Given the description of an element on the screen output the (x, y) to click on. 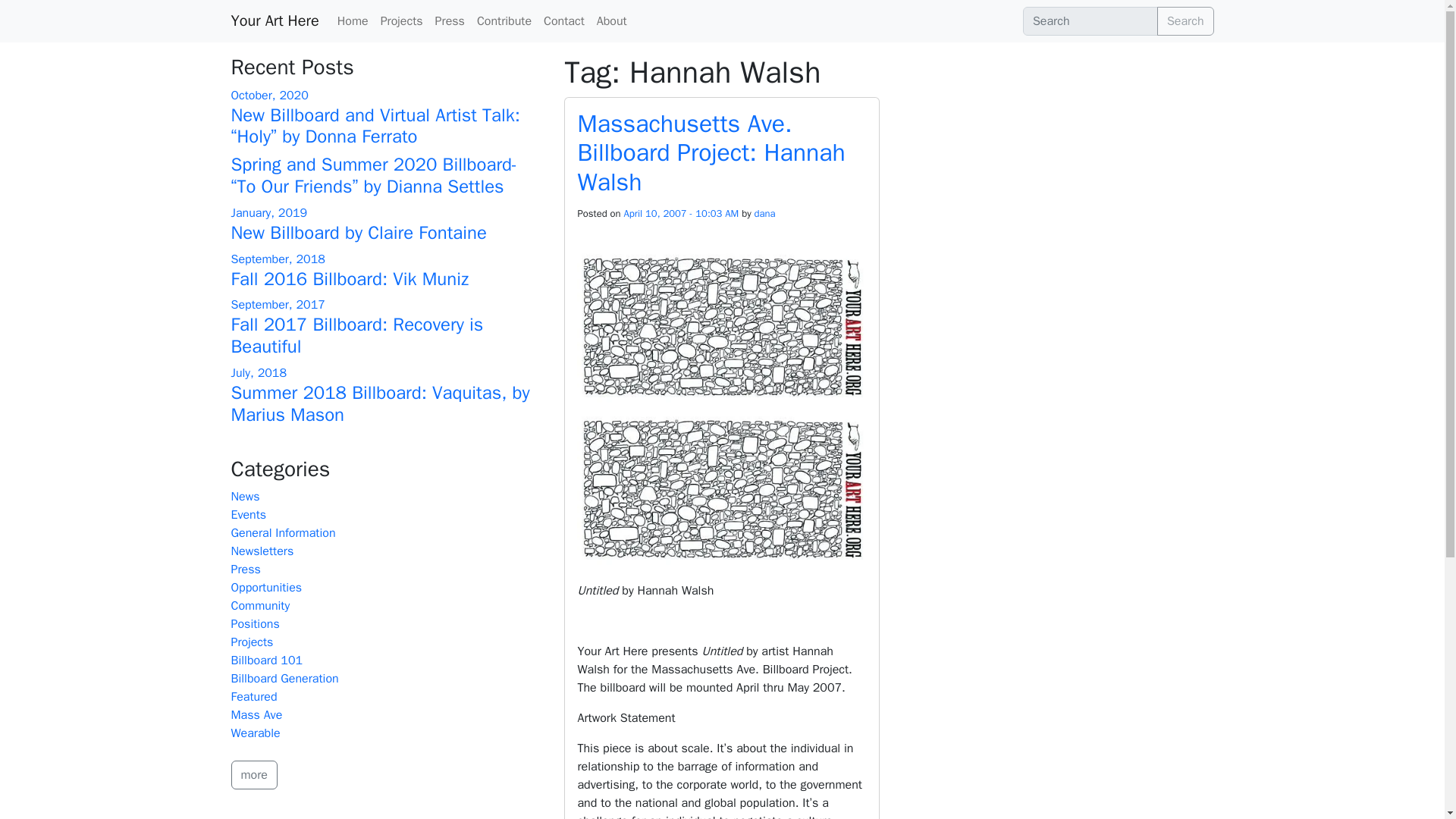
Contribute (503, 20)
Your Art Here (274, 20)
Contribute (503, 20)
Projects (401, 20)
January, 2019 (268, 212)
September, 2017 (277, 304)
New Billboard by Claire Fontaine (358, 232)
October, 2020 (268, 95)
Projects (251, 642)
